Given the description of an element on the screen output the (x, y) to click on. 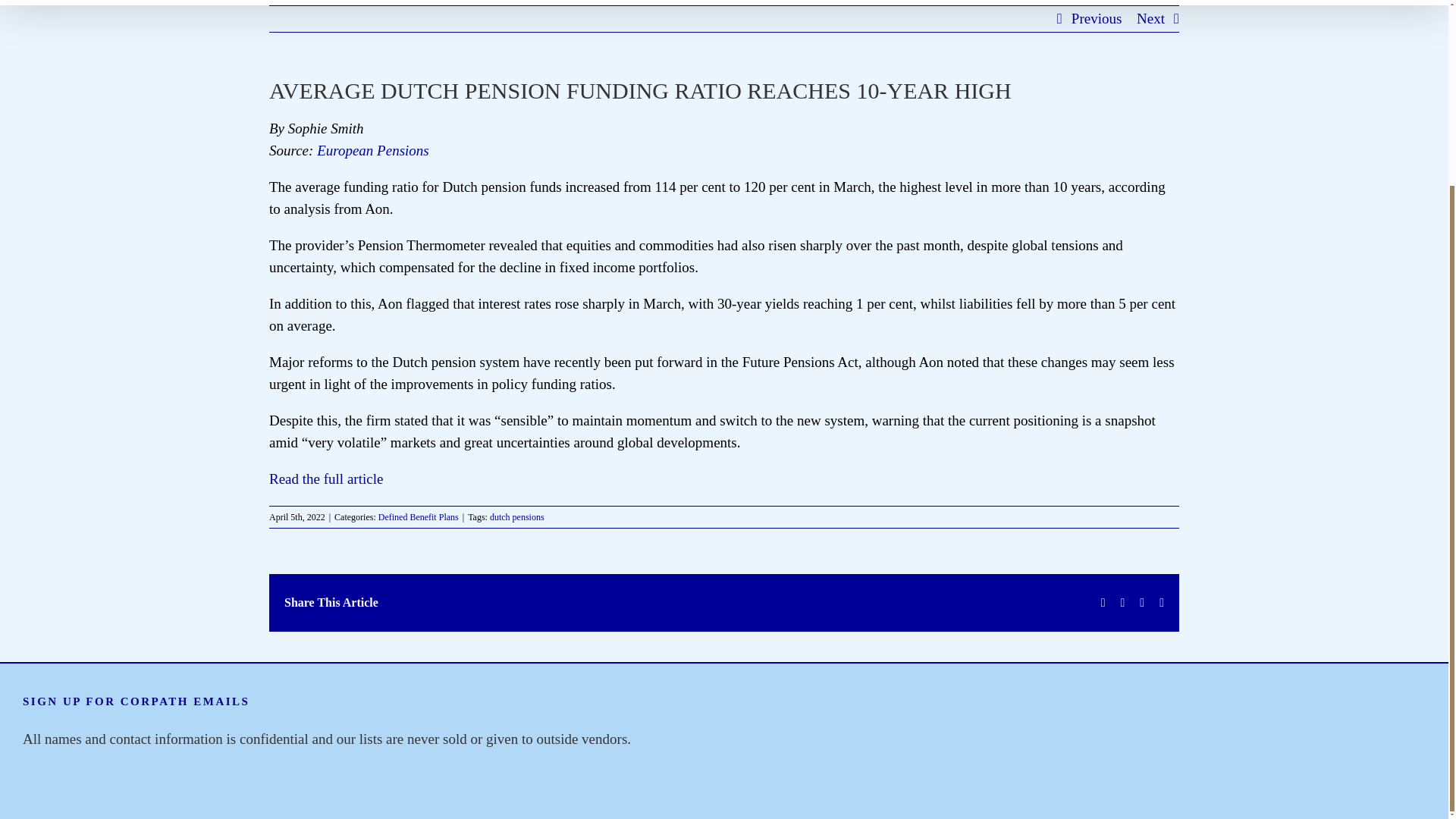
EVENTS (765, 2)
Email (1160, 603)
Facebook (1102, 603)
RESOURCES (660, 2)
PENSION NEWS (541, 2)
HOME (445, 2)
LinkedIn (1142, 603)
X (1121, 603)
